Given the description of an element on the screen output the (x, y) to click on. 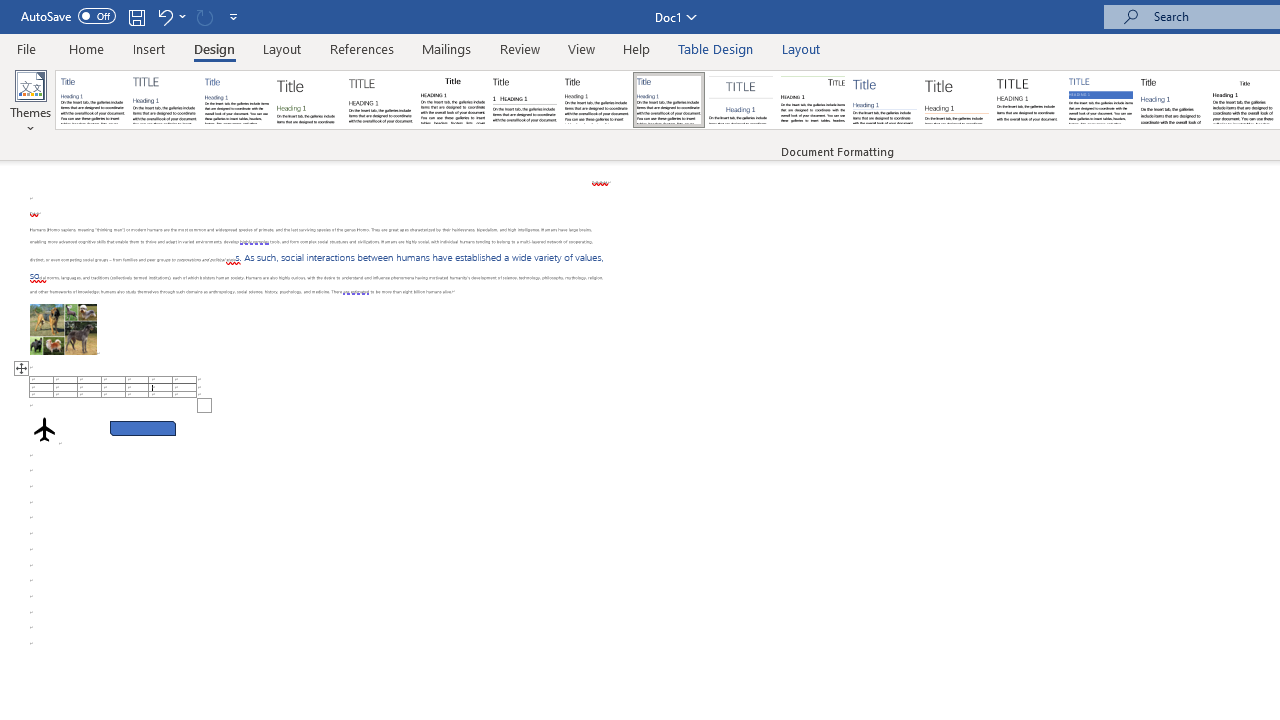
Word (1172, 100)
Can't Repeat (204, 15)
Undo Apply Quick Style Set (170, 15)
Rectangle: Diagonal Corners Snipped 2 (143, 428)
Centered (740, 100)
Undo Apply Quick Style Set (164, 15)
Basic (Elegant) (164, 100)
Black & White (Capitalized) (381, 100)
Lines (Simple) (884, 100)
